Given the description of an element on the screen output the (x, y) to click on. 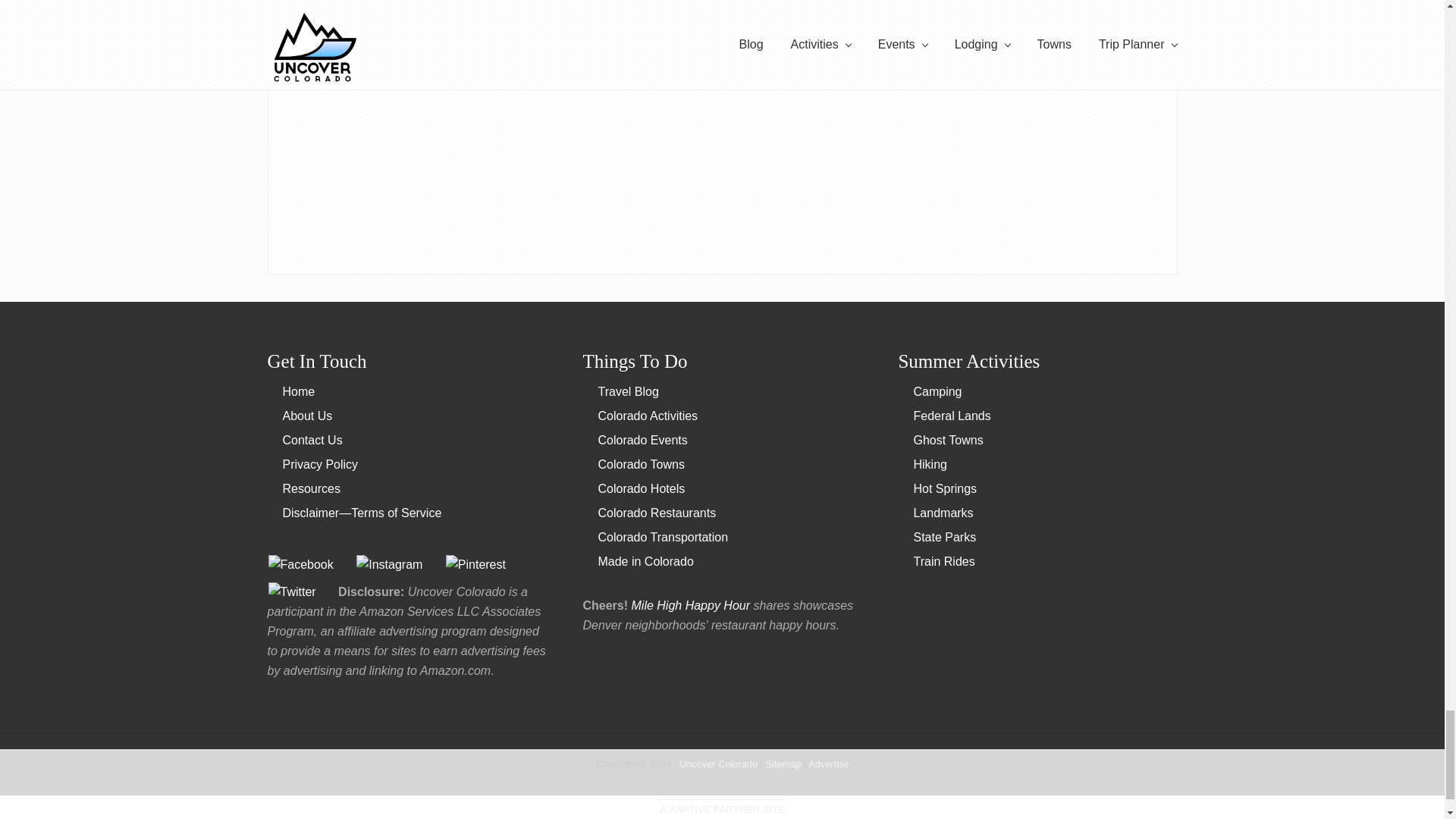
About Uncover Colorado (306, 415)
Disclaimer (361, 512)
Contact Uncover Colorado (312, 440)
Colorado Travel Guide (298, 391)
Privacy Policy (320, 463)
